Given the description of an element on the screen output the (x, y) to click on. 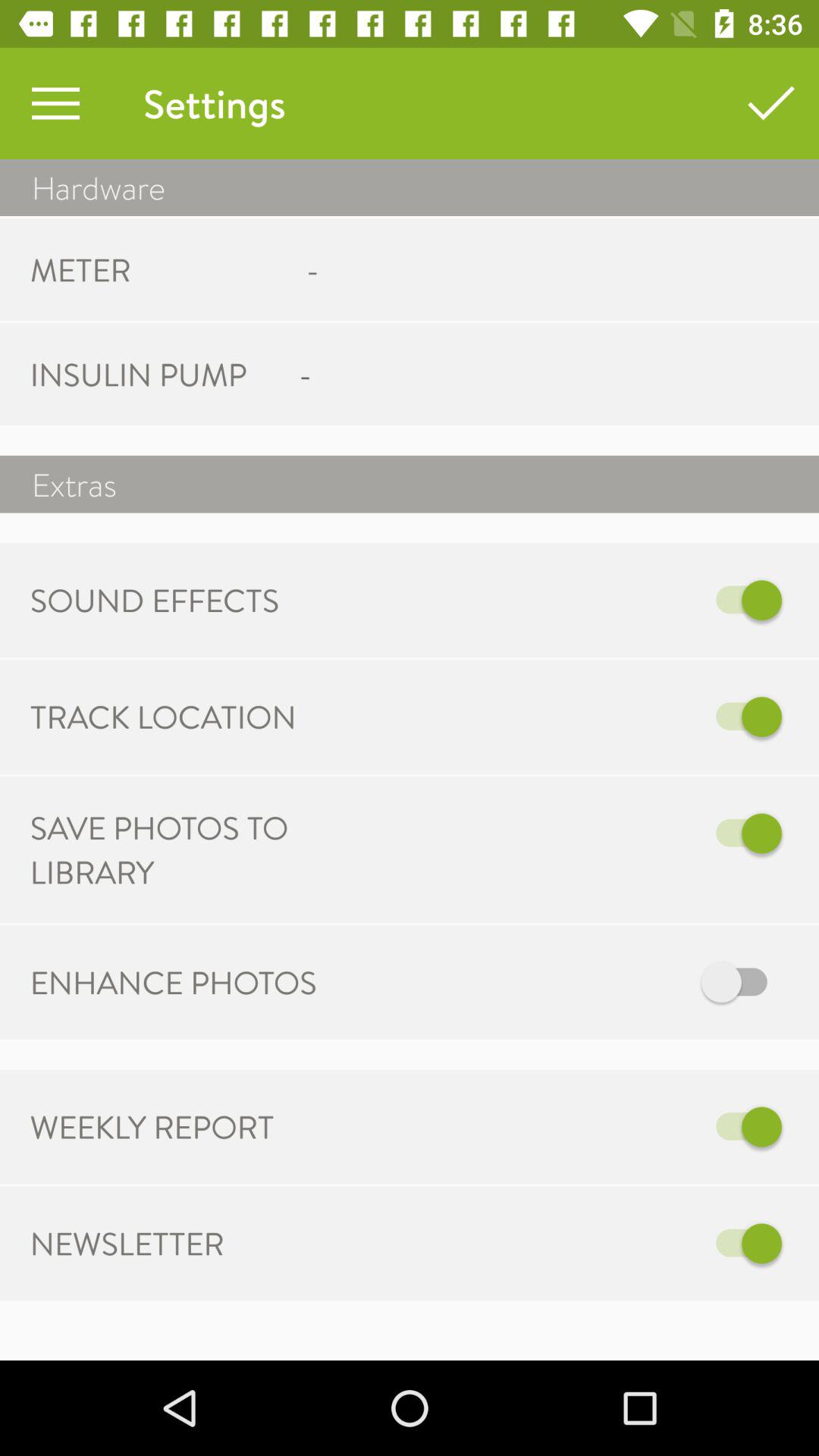
go to on the option (566, 1243)
